Given the description of an element on the screen output the (x, y) to click on. 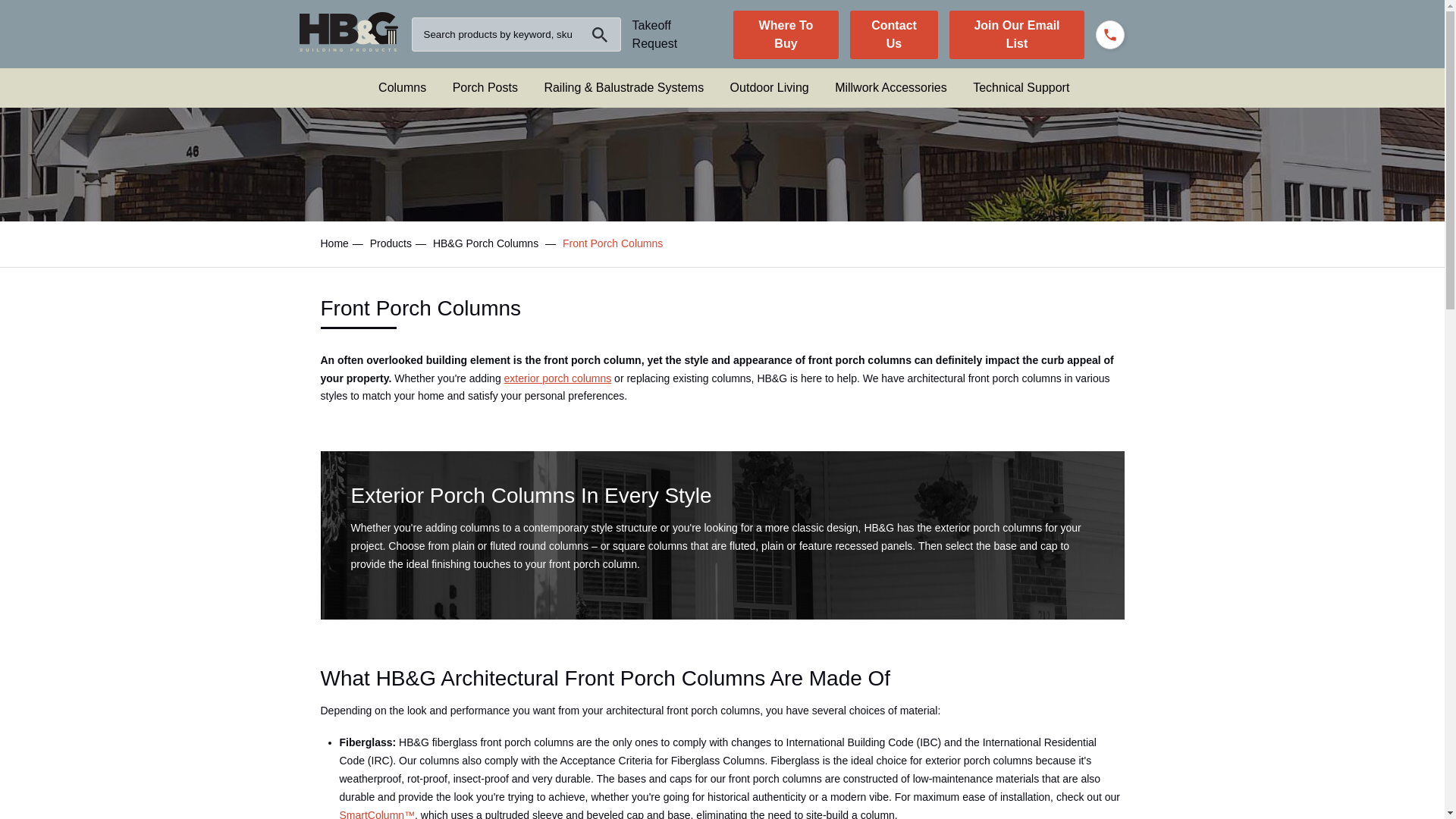
Join Our Email List (1016, 34)
Where To Buy (785, 34)
Wooden Porch Posts (485, 87)
Columns (402, 87)
Porch Posts (485, 87)
Outdoor Living (769, 87)
Newsletter Signup (1016, 34)
Architectural Takeoff Request (654, 33)
Takeoff Request (654, 33)
Contact Us (894, 34)
Front Porch Columns (402, 87)
